Given the description of an element on the screen output the (x, y) to click on. 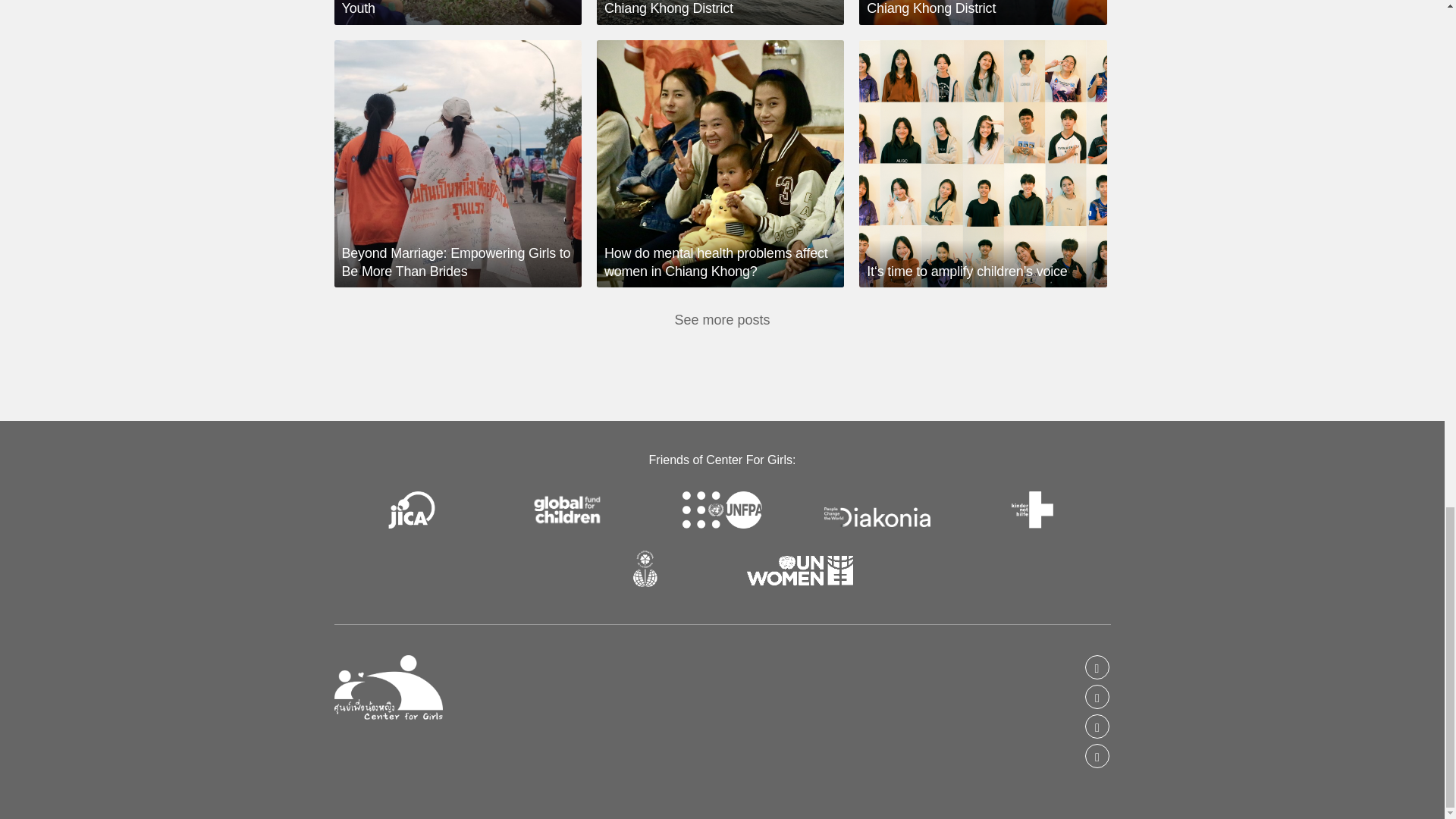
See more posts (722, 319)
